Given the description of an element on the screen output the (x, y) to click on. 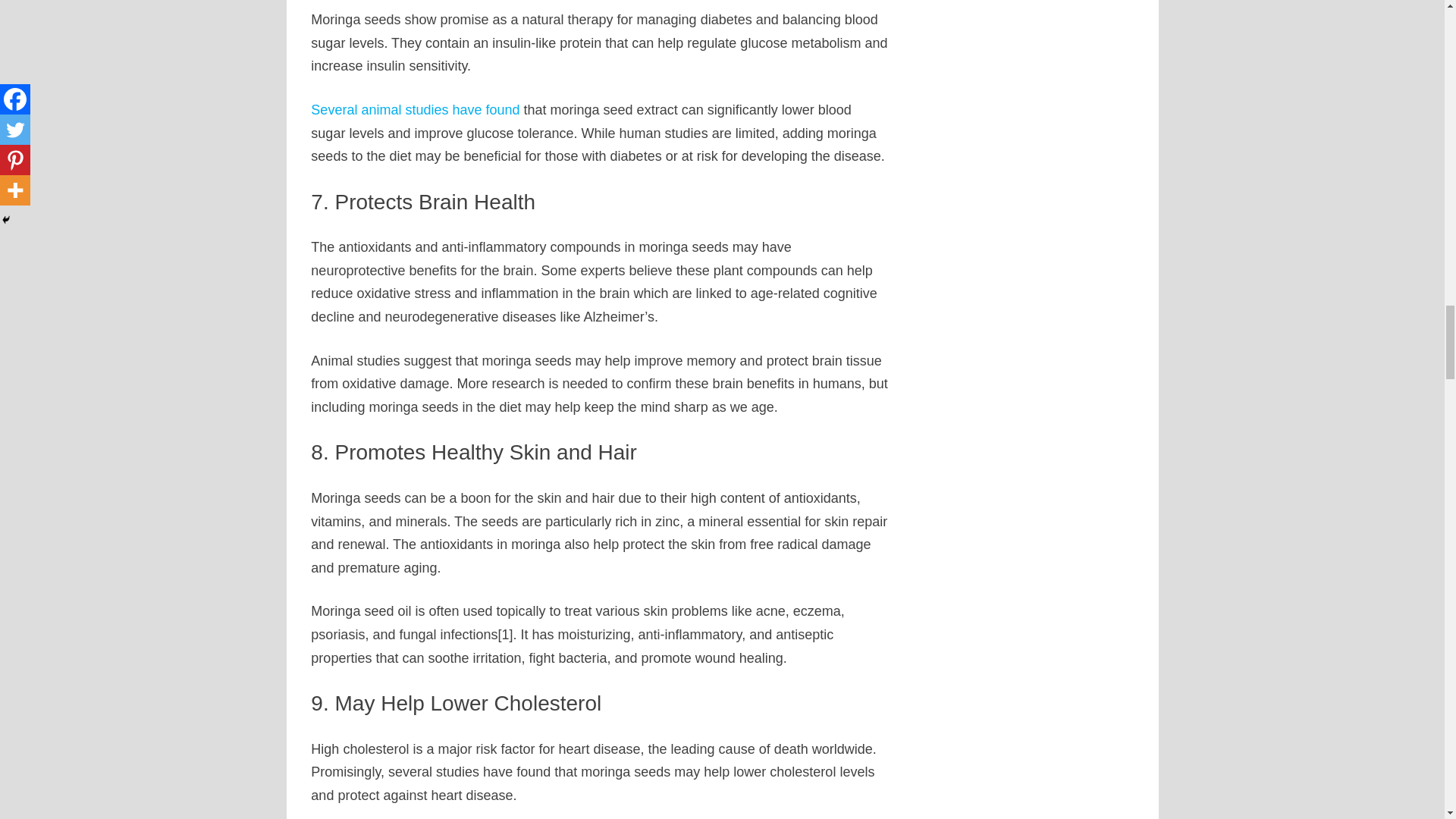
Several animal studies have found (415, 109)
